Given the description of an element on the screen output the (x, y) to click on. 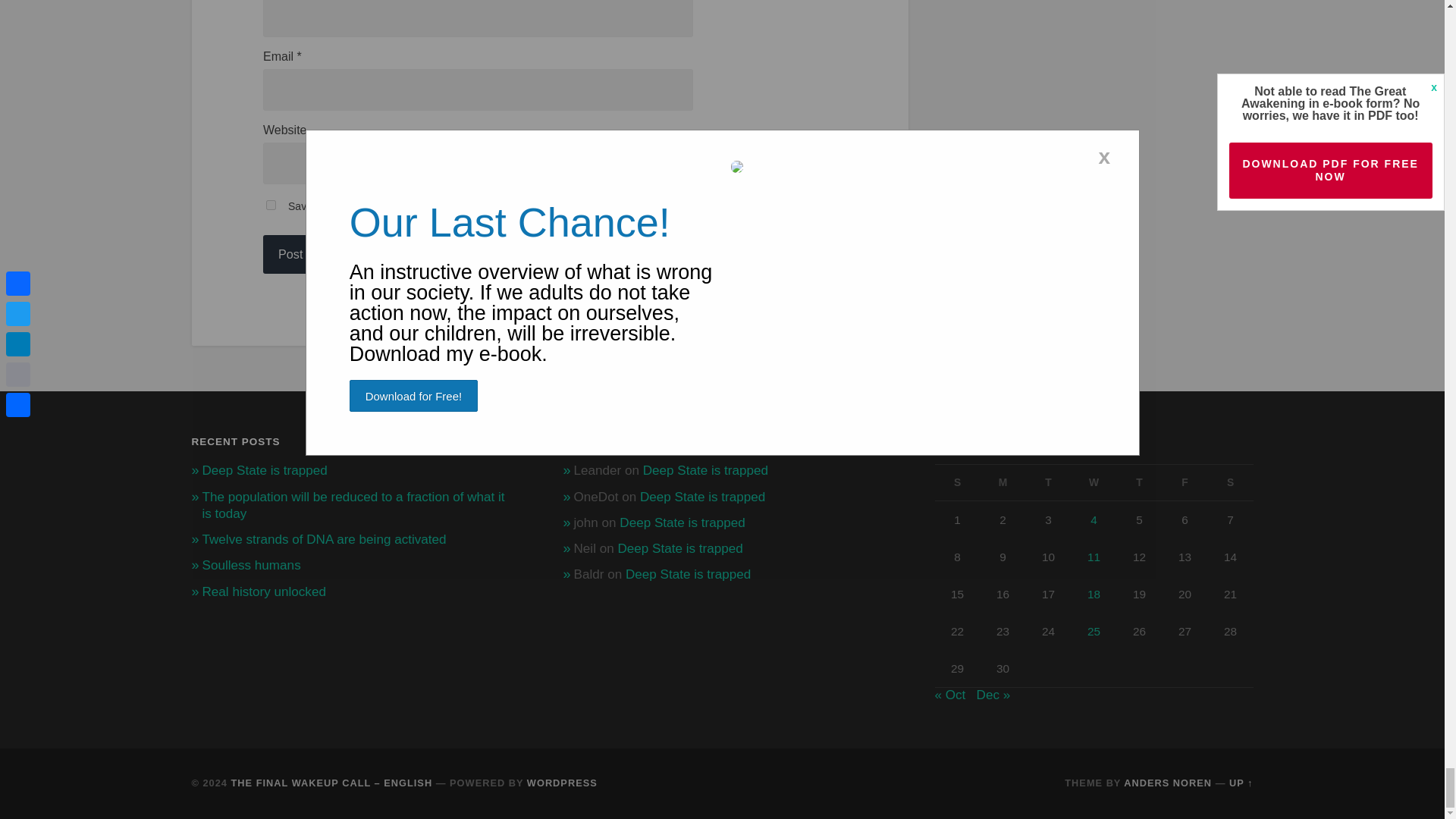
Sunday (956, 482)
yes (271, 204)
Monday (1002, 482)
Post Comment (318, 254)
